Given the description of an element on the screen output the (x, y) to click on. 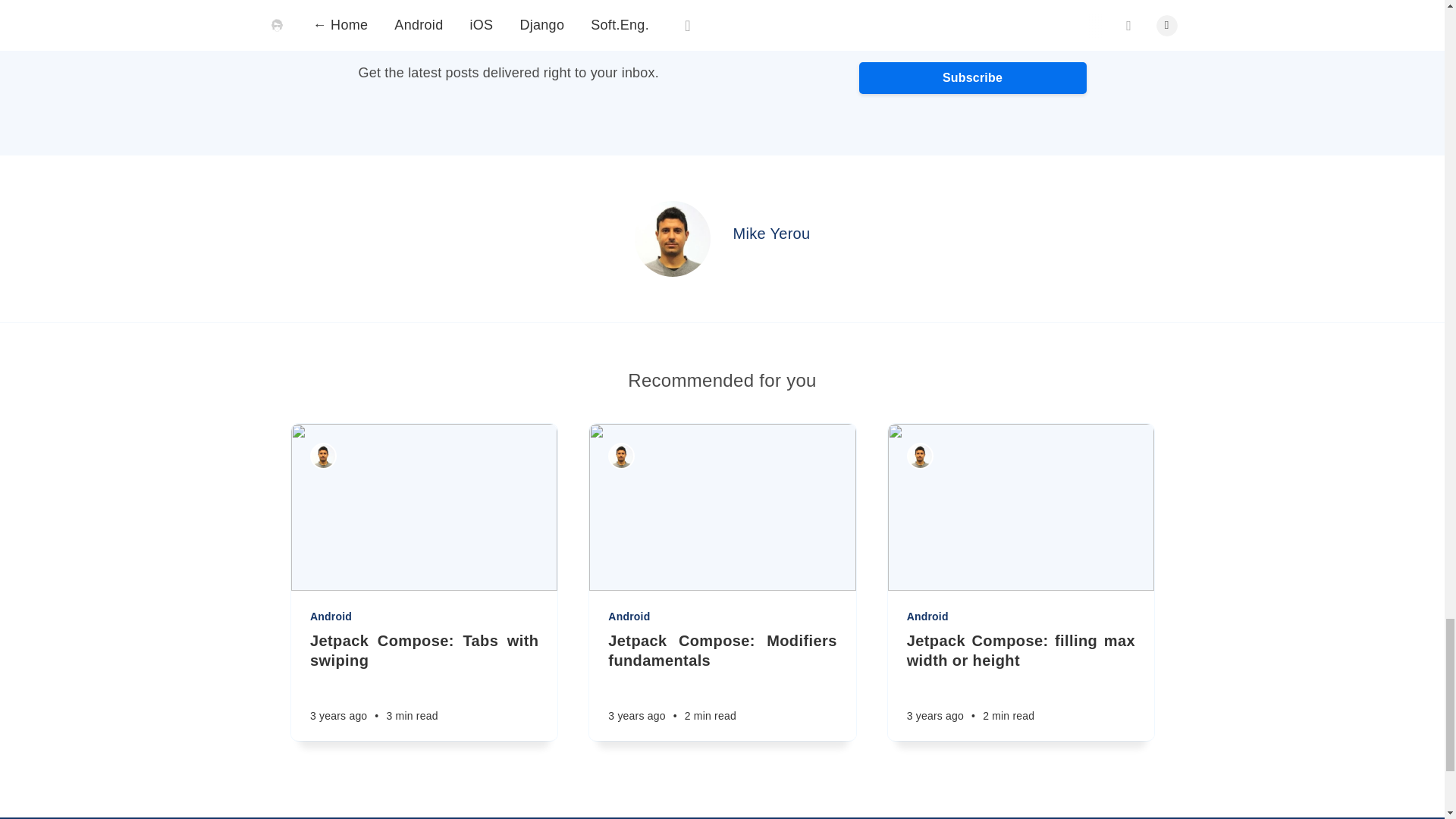
Android (424, 616)
Mike Yerou (771, 233)
Jetpack Compose: filling max width or height (1019, 650)
Jetpack Compose: Tabs with swiping (422, 650)
Subscribe (972, 78)
Jetpack Compose: Modifiers fundamentals (721, 650)
